Given the description of an element on the screen output the (x, y) to click on. 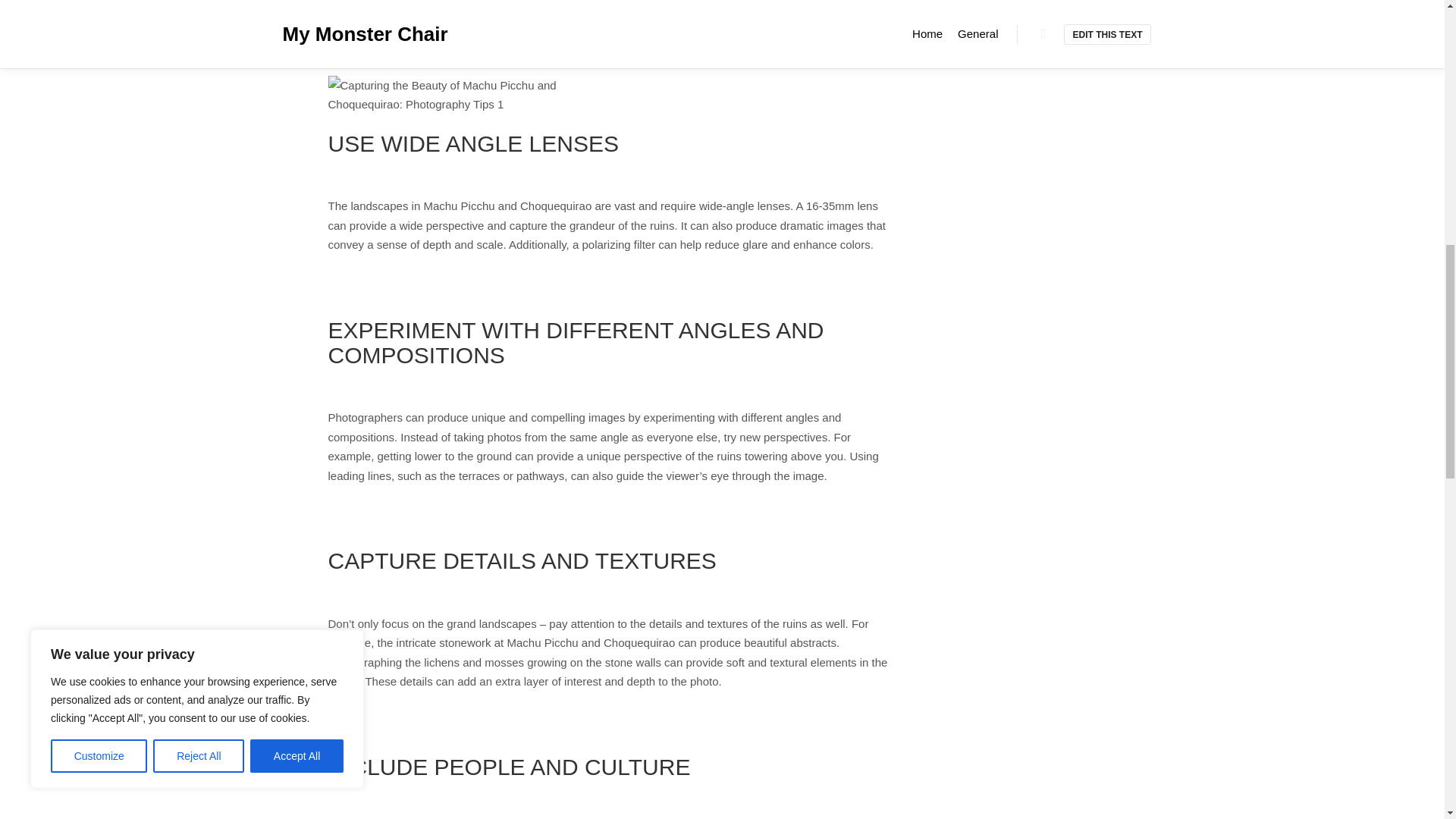
beautiful lighting (562, 38)
